Given the description of an element on the screen output the (x, y) to click on. 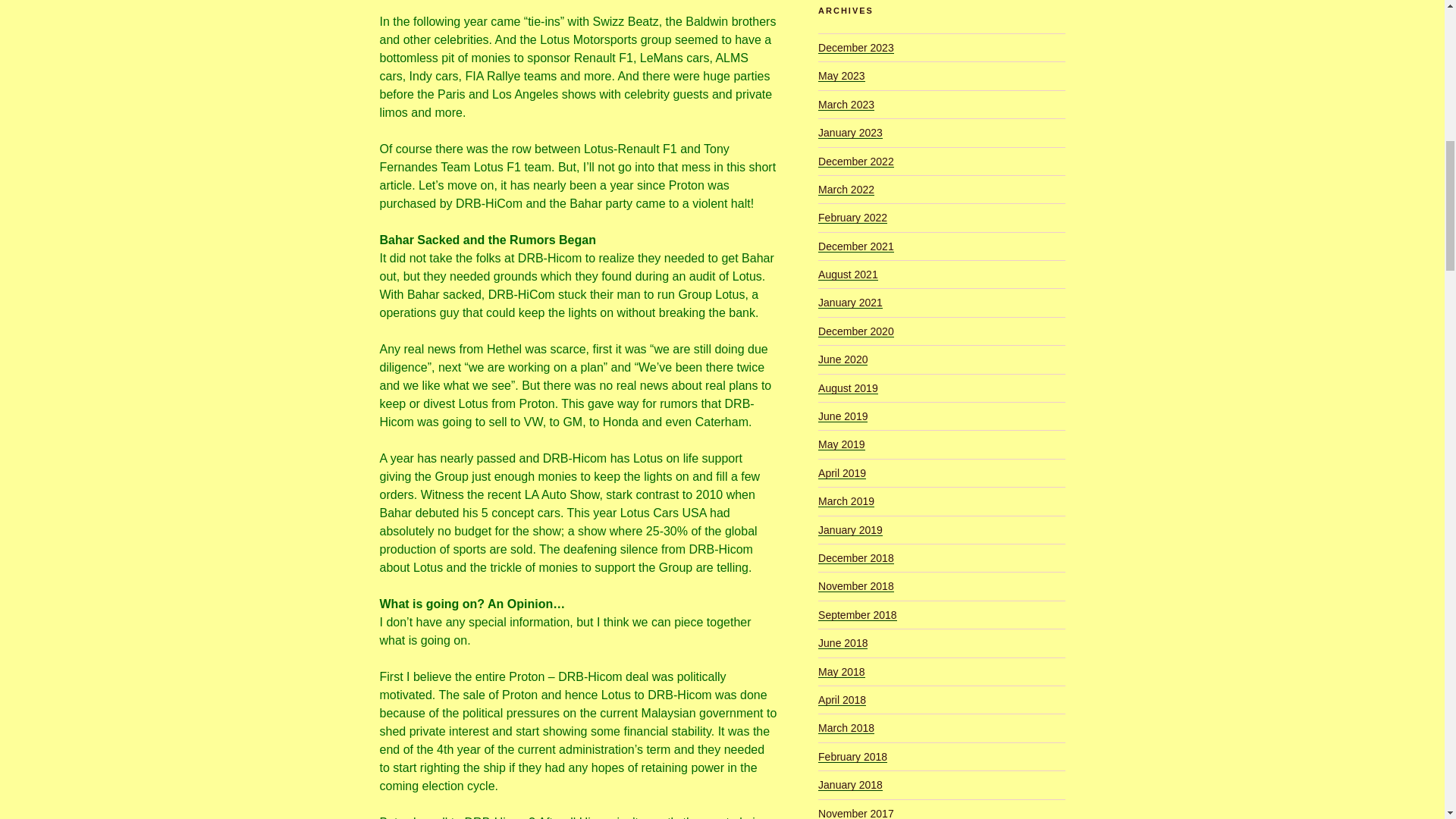
January 2021 (850, 302)
March 2023 (846, 104)
March 2022 (846, 189)
June 2020 (842, 358)
December 2023 (855, 47)
August 2021 (847, 274)
May 2023 (841, 75)
February 2022 (852, 217)
December 2020 (855, 331)
January 2023 (850, 132)
December 2021 (855, 246)
December 2022 (855, 161)
